Given the description of an element on the screen output the (x, y) to click on. 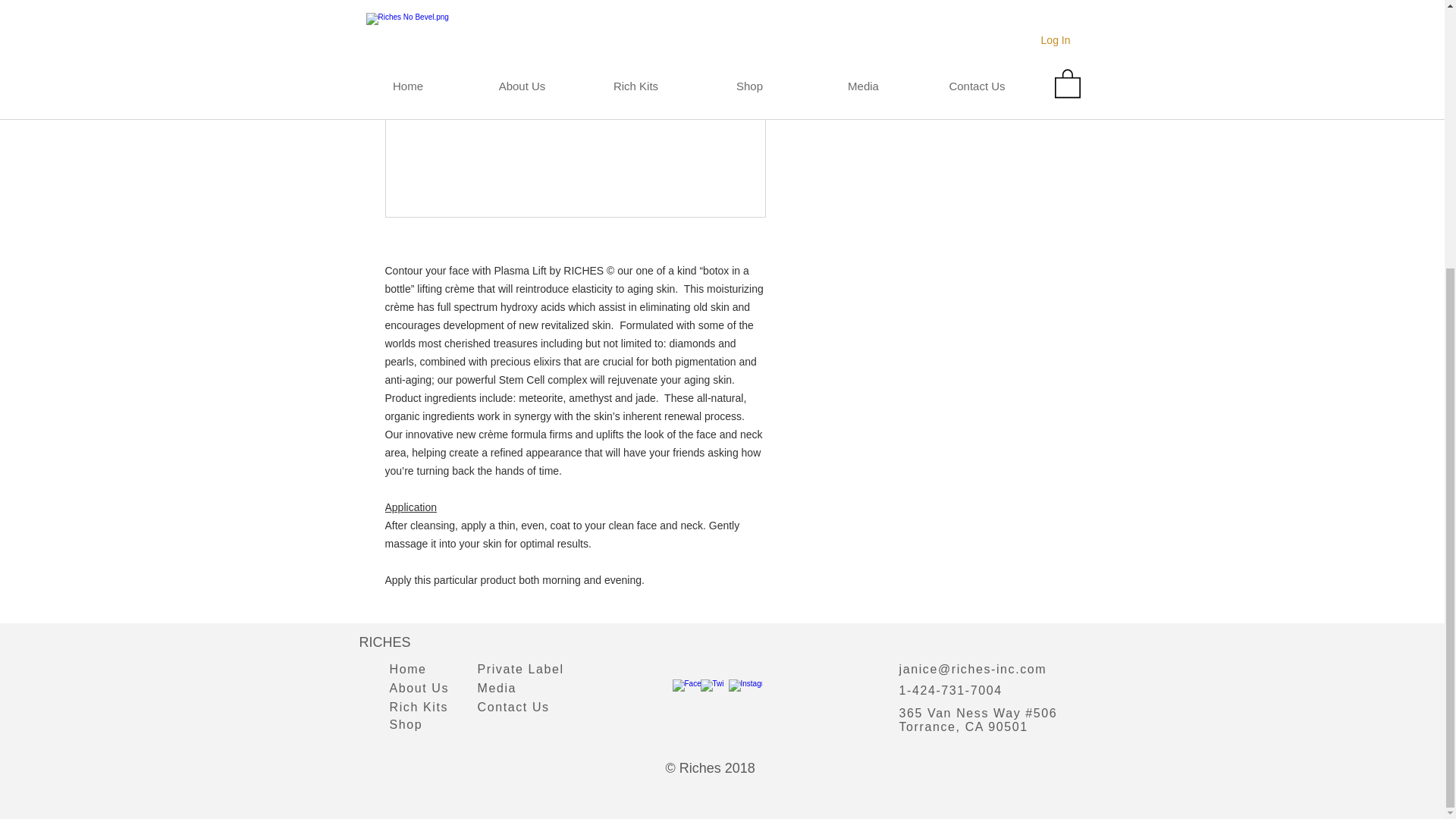
Contact Us (513, 707)
Private Label (520, 668)
Media (496, 687)
Home (408, 668)
Add to Cart (924, 14)
Shop (406, 724)
About Us (419, 687)
Rich Kits (419, 707)
